Given the description of an element on the screen output the (x, y) to click on. 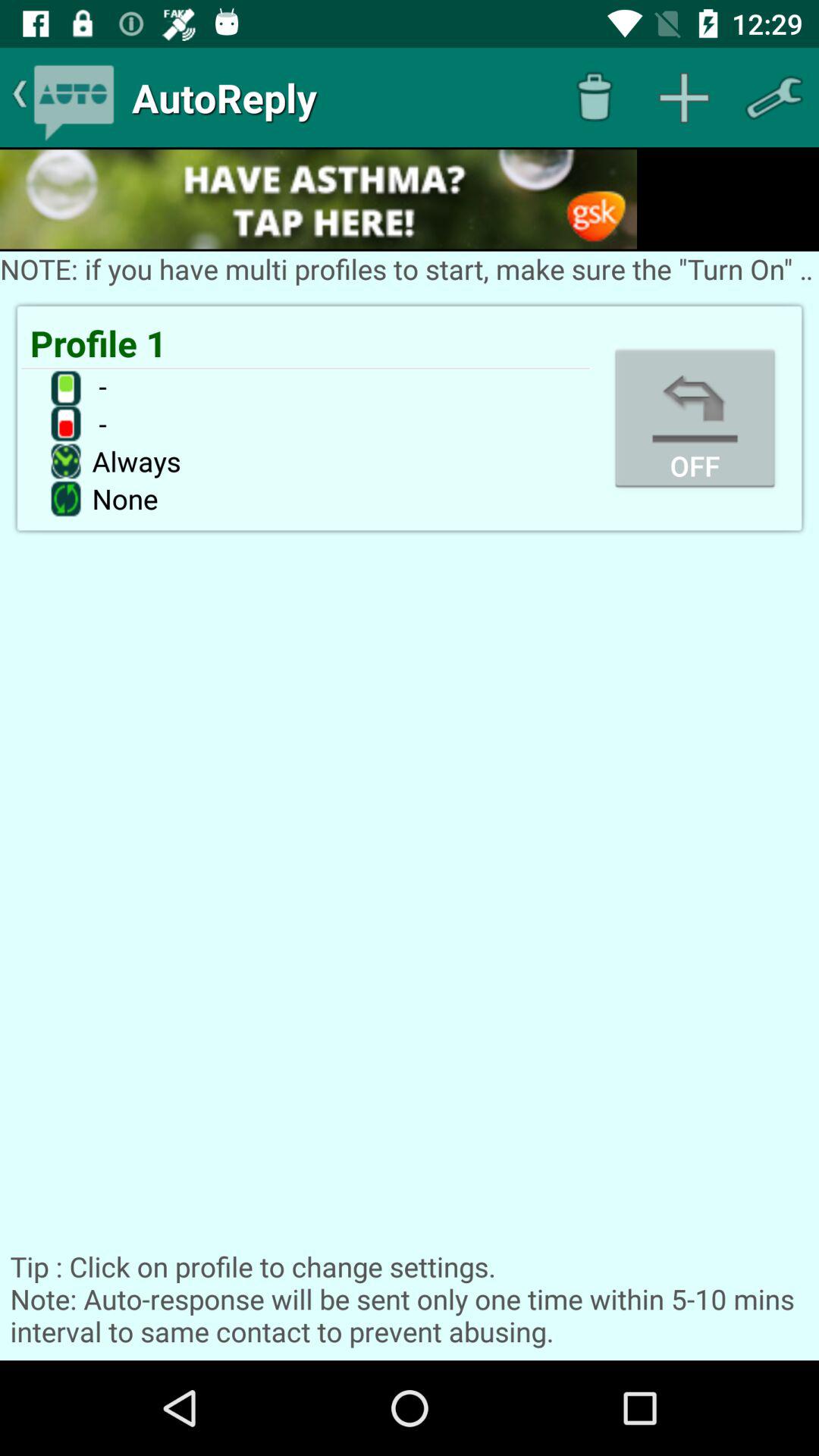
click to add options (684, 97)
